Given the description of an element on the screen output the (x, y) to click on. 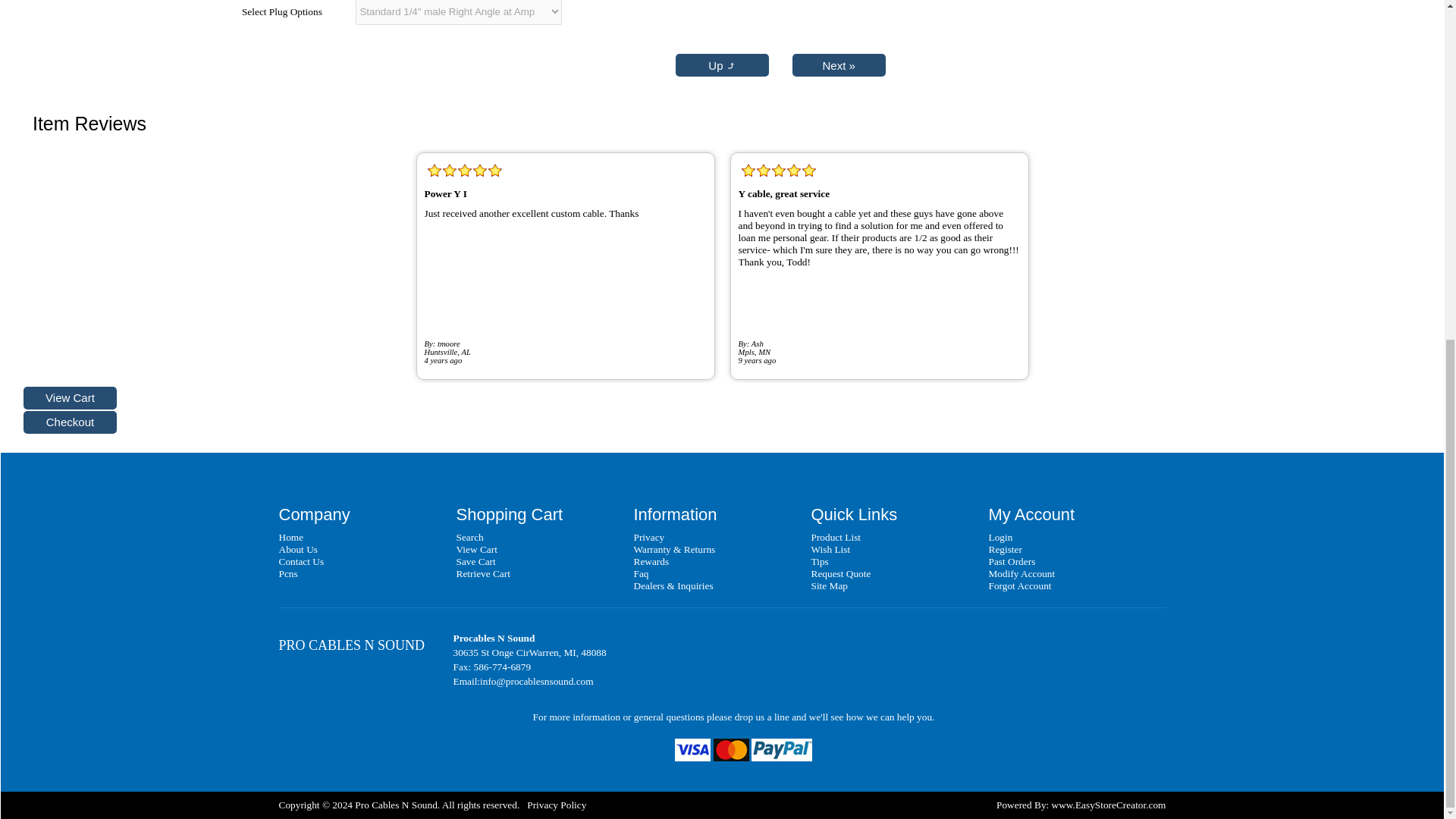
Visa (692, 749)
View Cart (477, 549)
PayPal (781, 749)
View Cart (69, 397)
Checkout (69, 422)
Pcns (288, 573)
View Cart (69, 397)
Master (731, 749)
Search (470, 536)
About Us (298, 549)
